Given the description of an element on the screen output the (x, y) to click on. 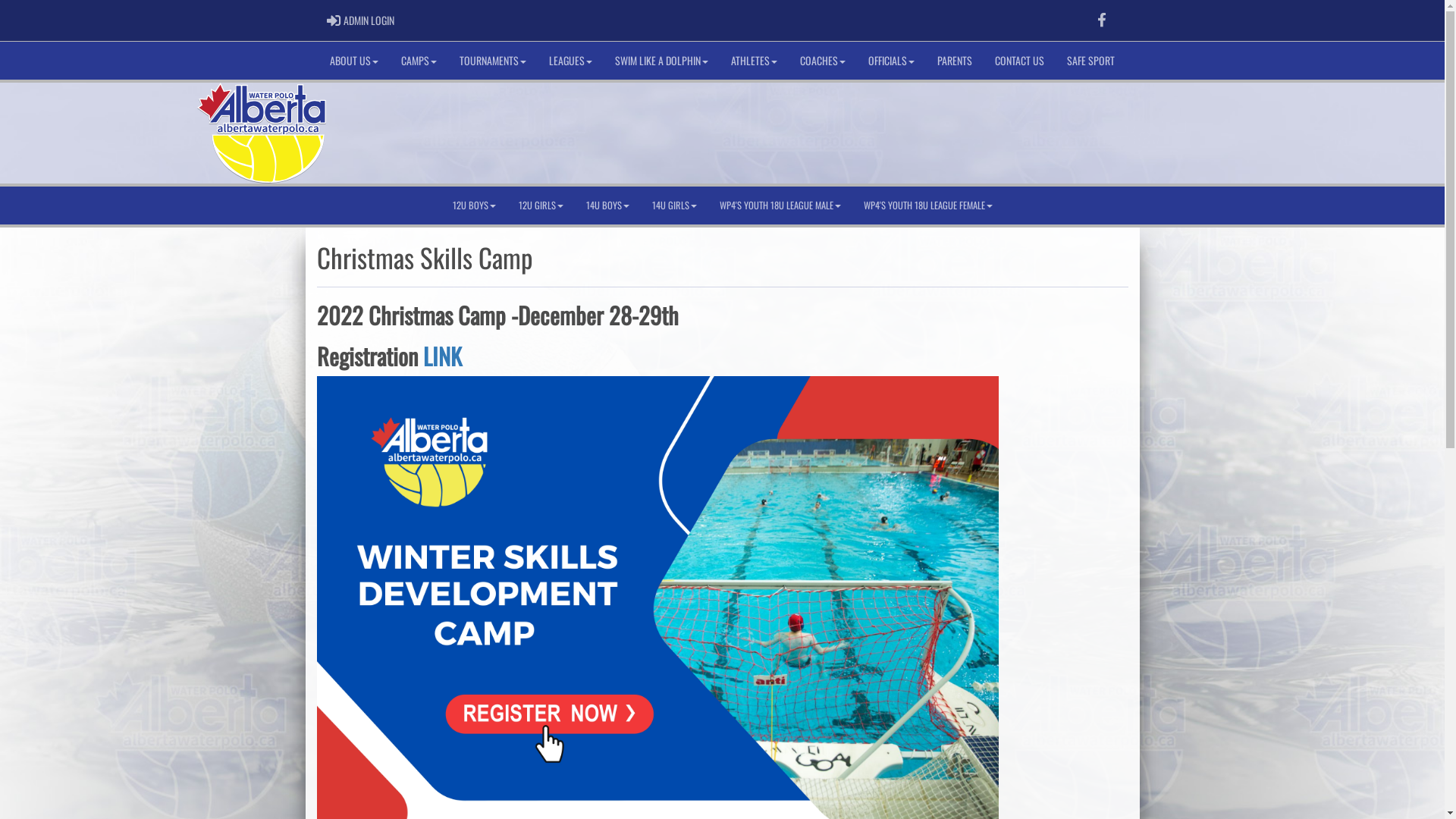
12U GIRLS Element type: text (540, 205)
LEAGUES Element type: text (570, 60)
ATHLETES Element type: text (753, 60)
like us Element type: hover (1101, 19)
LINK Element type: text (442, 355)
14U BOYS Element type: text (607, 205)
SWIM LIKE A DOLPHIN Element type: text (661, 60)
Facebook Element type: text (1101, 20)
Login Page Element type: hover (333, 20)
CONTACT US Element type: text (1019, 60)
LOGIN PAGE
 ADMIN LOGIN
ADMIN LOGIN Element type: text (360, 20)
WP4'S YOUTH 18U LEAGUE MALE Element type: text (780, 205)
COACHES Element type: text (822, 60)
WP4'S YOUTH 18U LEAGUE FEMALE Element type: text (928, 205)
SAFE SPORT Element type: text (1090, 60)
12U BOYS Element type: text (474, 205)
CAMPS Element type: text (418, 60)
14U GIRLS Element type: text (673, 205)
OFFICIALS Element type: text (890, 60)
ABOUT US Element type: text (353, 60)
PARENTS Element type: text (954, 60)
TOURNAMENTS Element type: text (492, 60)
